Given the description of an element on the screen output the (x, y) to click on. 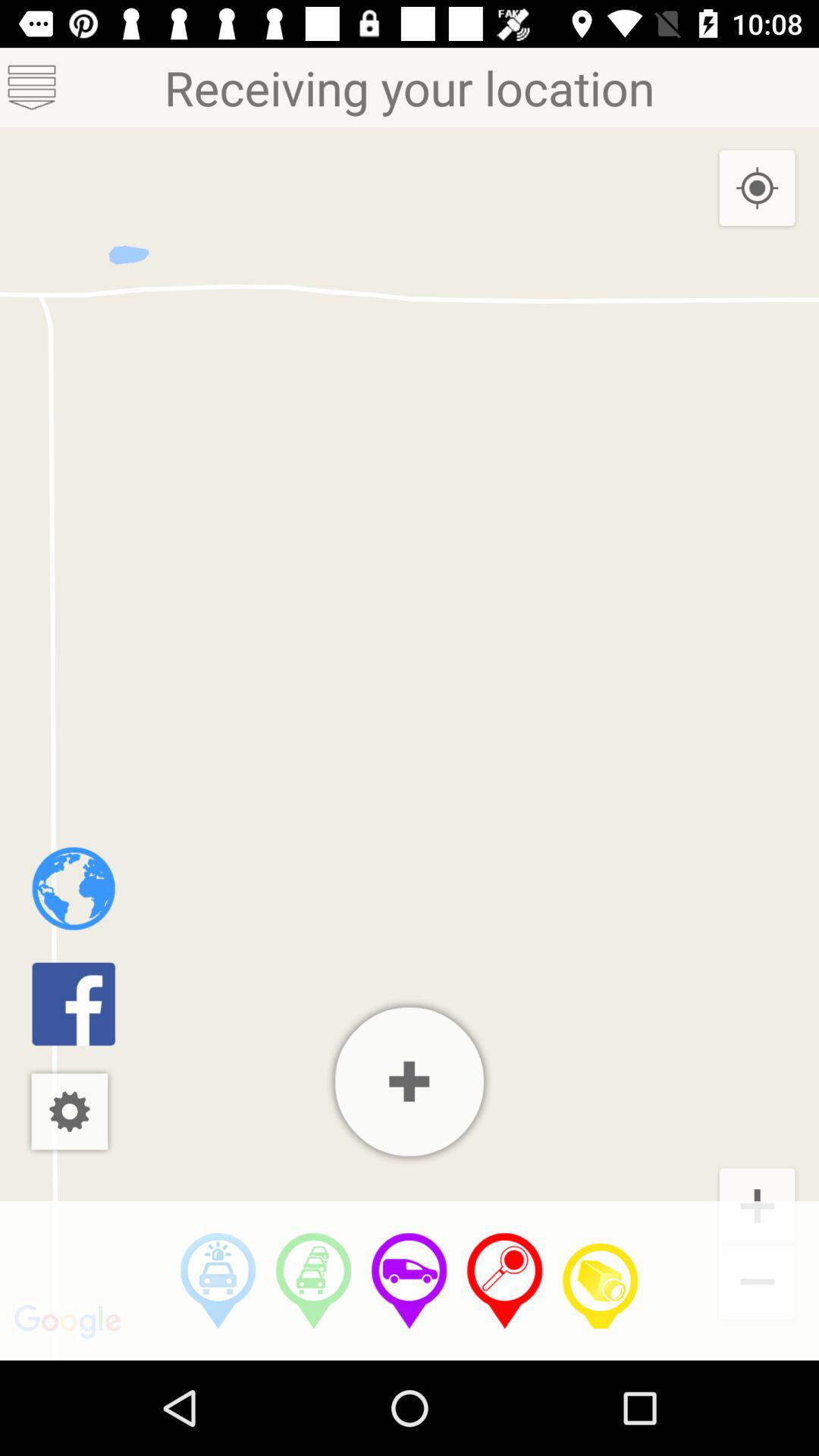
heavy trafic (313, 1280)
